Given the description of an element on the screen output the (x, y) to click on. 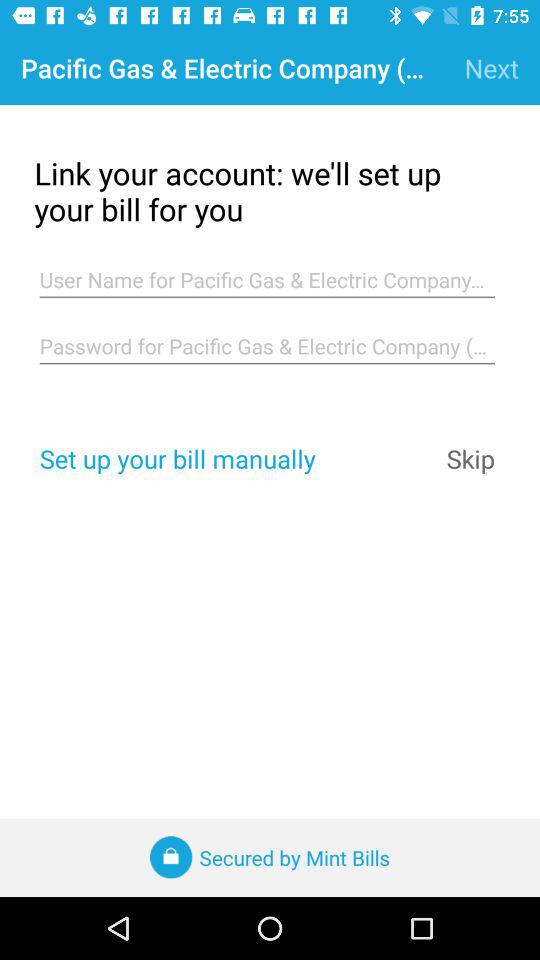
launch item to the right of the pacific gas electric icon (491, 67)
